Given the description of an element on the screen output the (x, y) to click on. 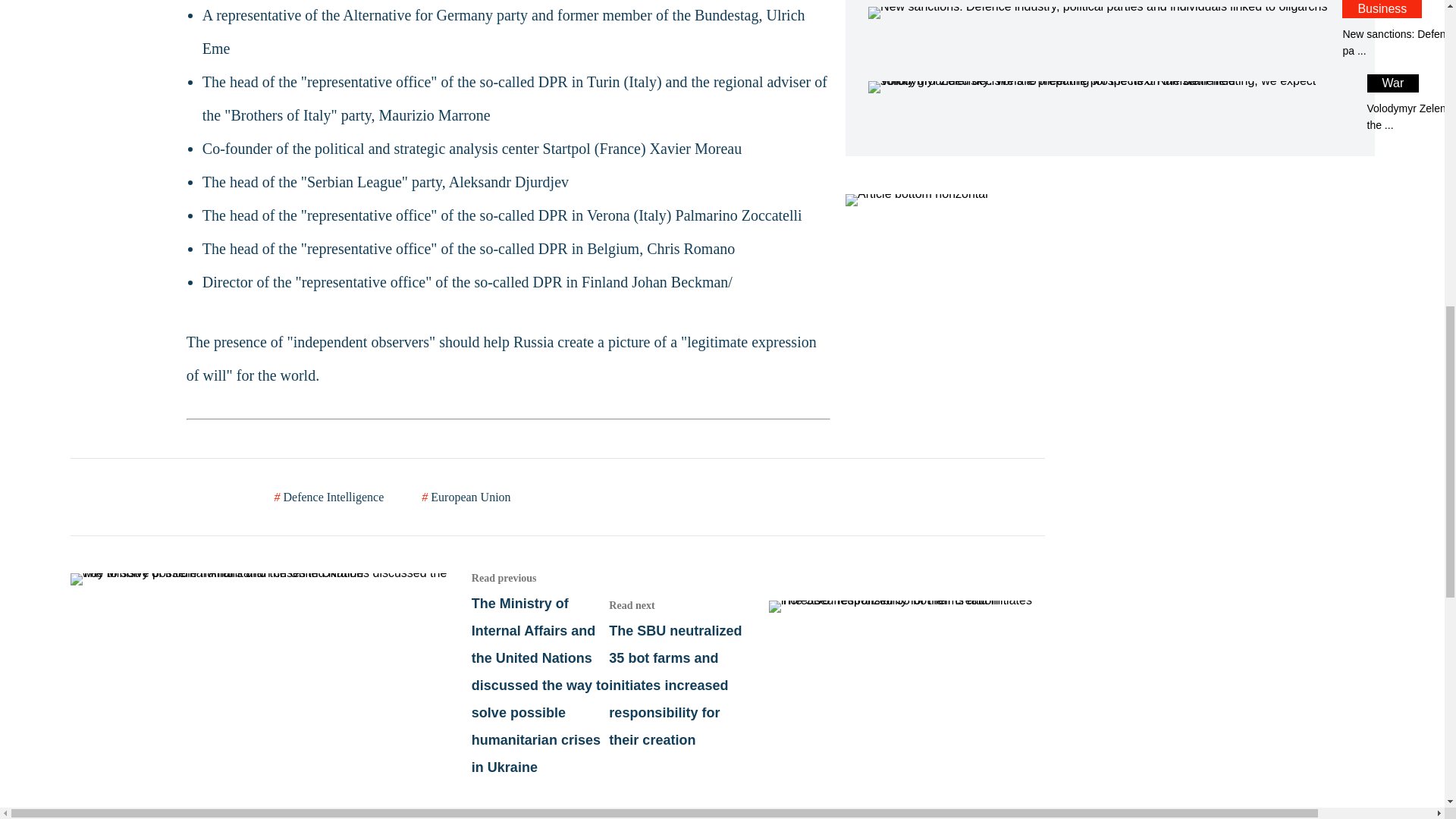
Read (1109, 103)
Defence Intelligence (329, 496)
European Union (466, 496)
Read (1109, 103)
Read (338, 673)
Read (825, 673)
